Given the description of an element on the screen output the (x, y) to click on. 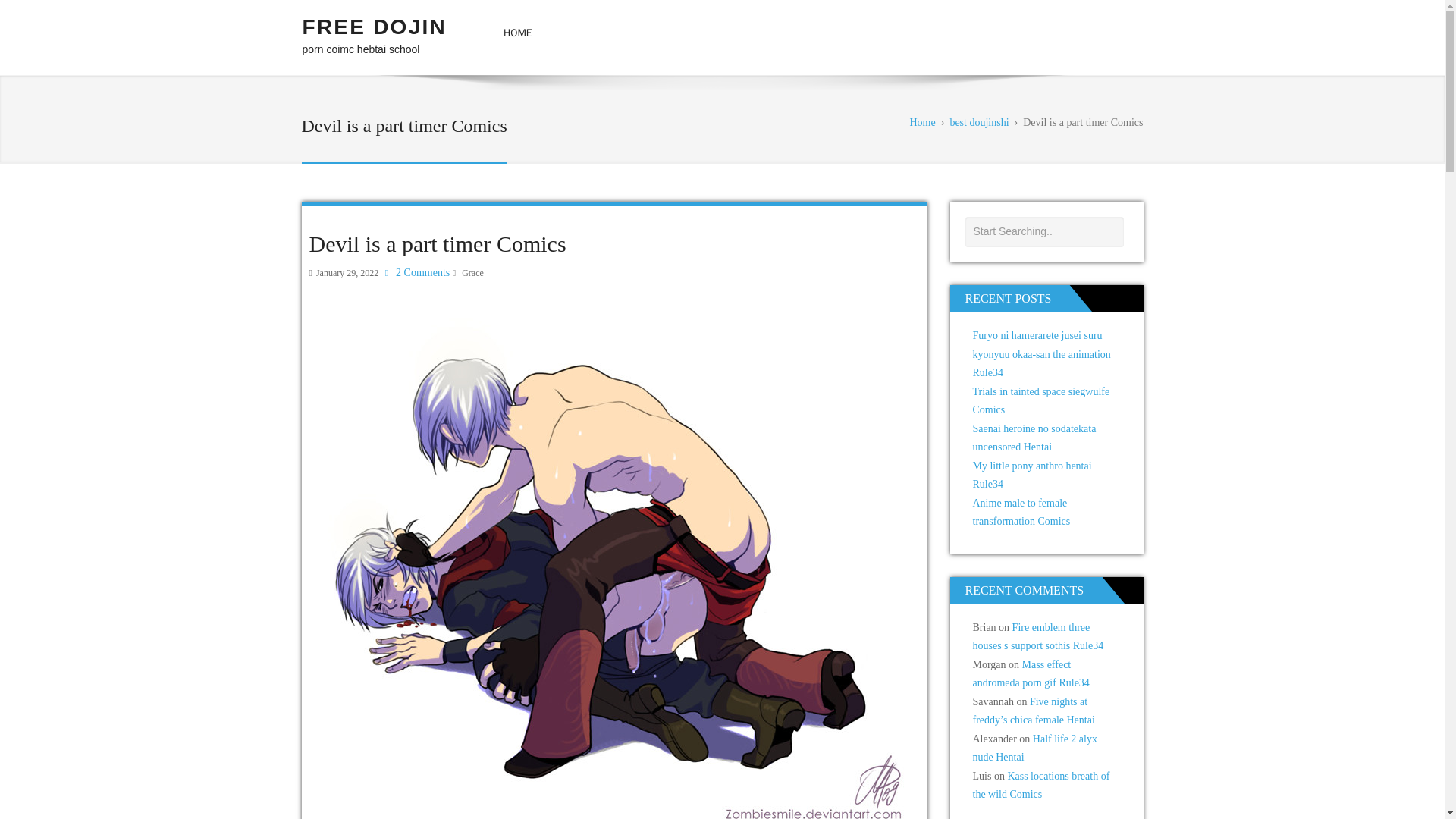
Grace (472, 272)
January 29, 2022 (346, 272)
Devil is a part timer Comics (437, 243)
Half life 2 alyx nude Hentai (1034, 748)
Fire emblem three houses s support sothis Rule34 (1037, 636)
FREE DOJIN (373, 26)
Trials in tainted space siegwulfe Comics (1040, 400)
Kass locations breath of the wild Comics (1040, 785)
Saenai heroine no sodatekata uncensored Hentai (1034, 438)
